Given the description of an element on the screen output the (x, y) to click on. 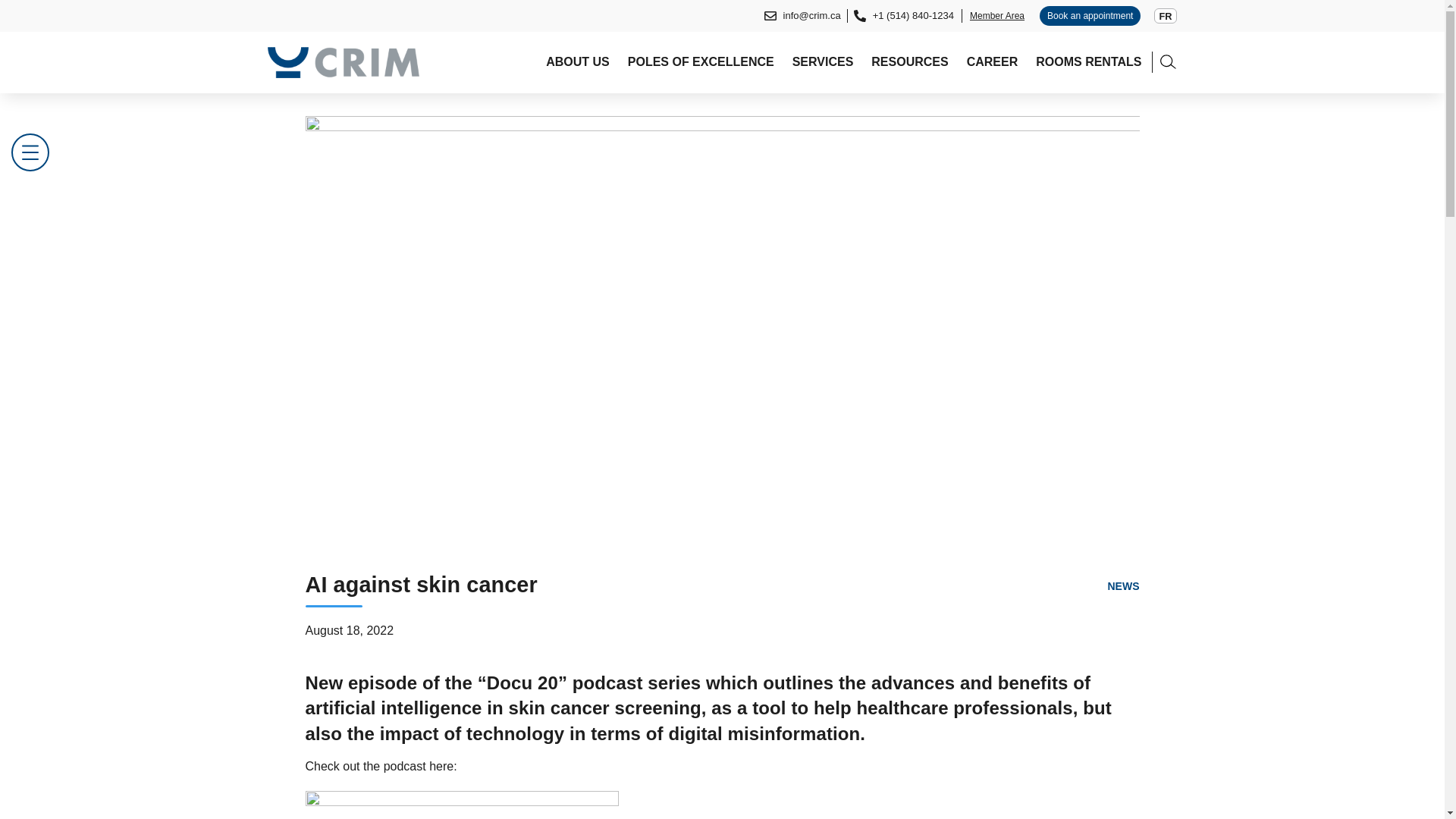
ABOUT US (578, 61)
CAREER (991, 61)
FR (1165, 16)
Member Area (997, 15)
ROOMS RENTALS (1088, 61)
RESOURCES (908, 61)
SERVICES (822, 61)
POLES OF EXCELLENCE (700, 61)
Book an appointment (1089, 15)
